Given the description of an element on the screen output the (x, y) to click on. 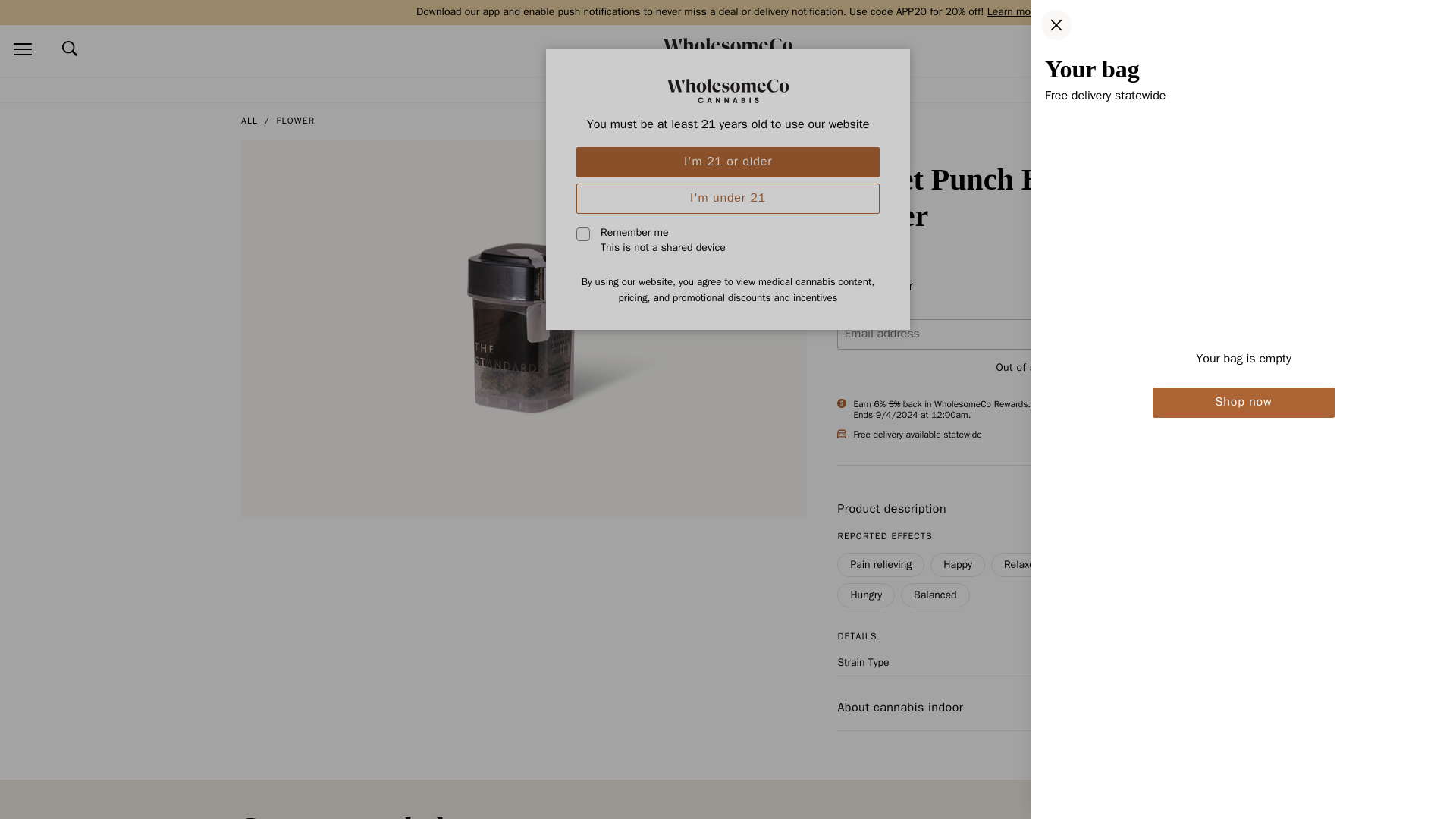
on (582, 233)
I'm under 21 (727, 198)
Open shopping bag (1433, 50)
Open search modal (69, 48)
Open navigation (22, 49)
I'm 21 or older (727, 162)
